Given the description of an element on the screen output the (x, y) to click on. 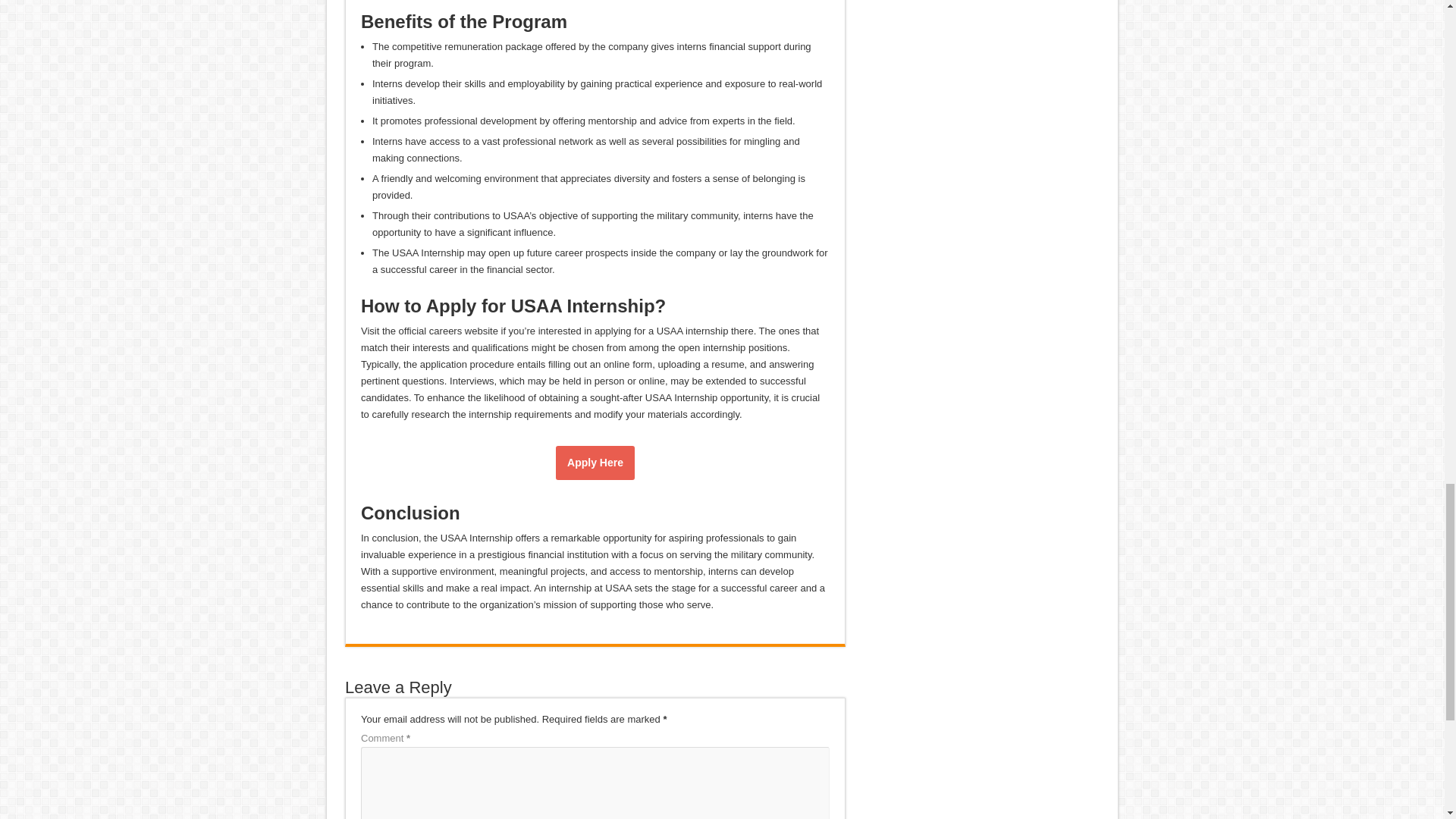
Apply Here (595, 462)
USAA Internship (595, 462)
